Given the description of an element on the screen output the (x, y) to click on. 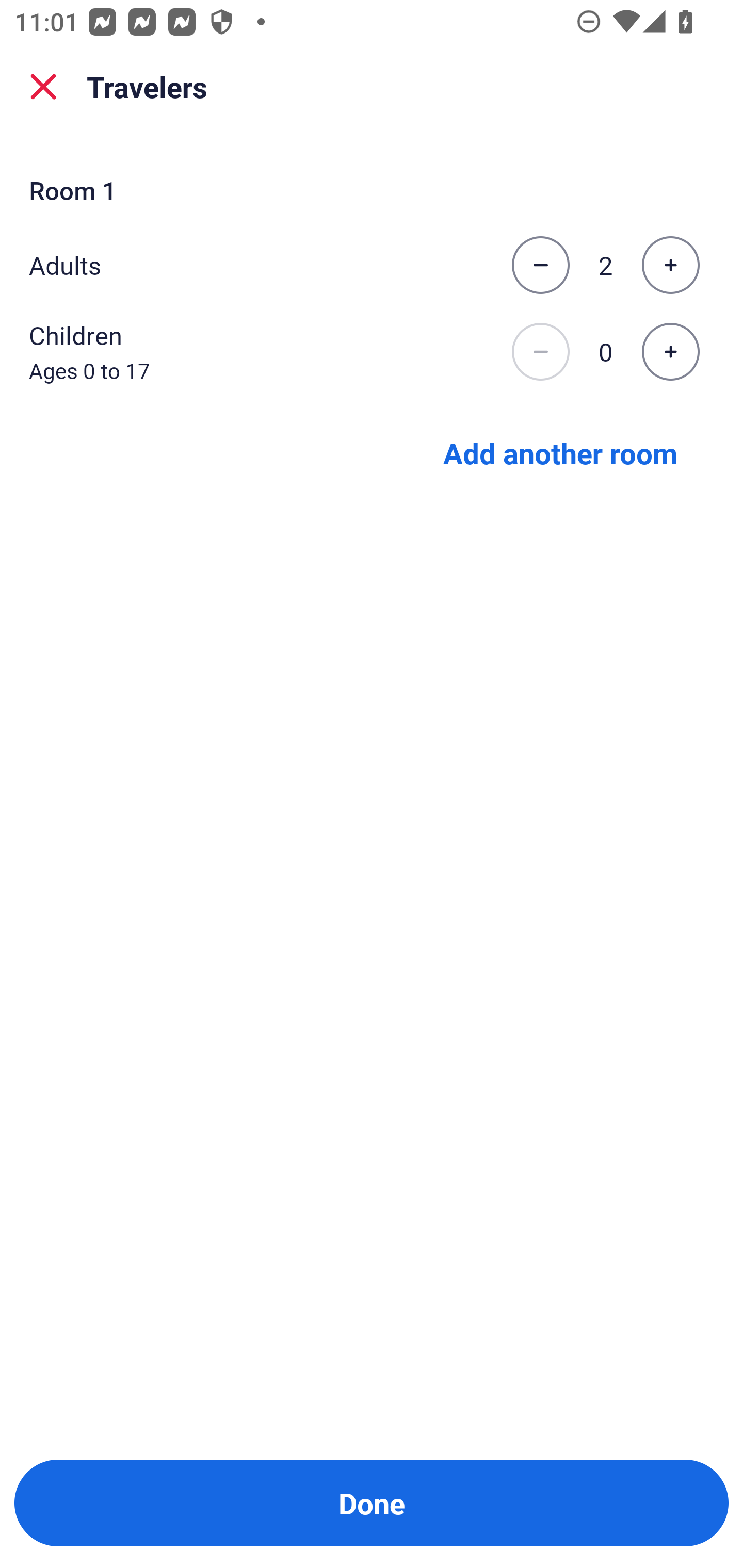
close (43, 86)
Decrease the number of adults (540, 264)
Increase the number of adults (670, 264)
Decrease the number of children (540, 351)
Increase the number of children (670, 351)
Add another room (560, 452)
Done (371, 1502)
